Given the description of an element on the screen output the (x, y) to click on. 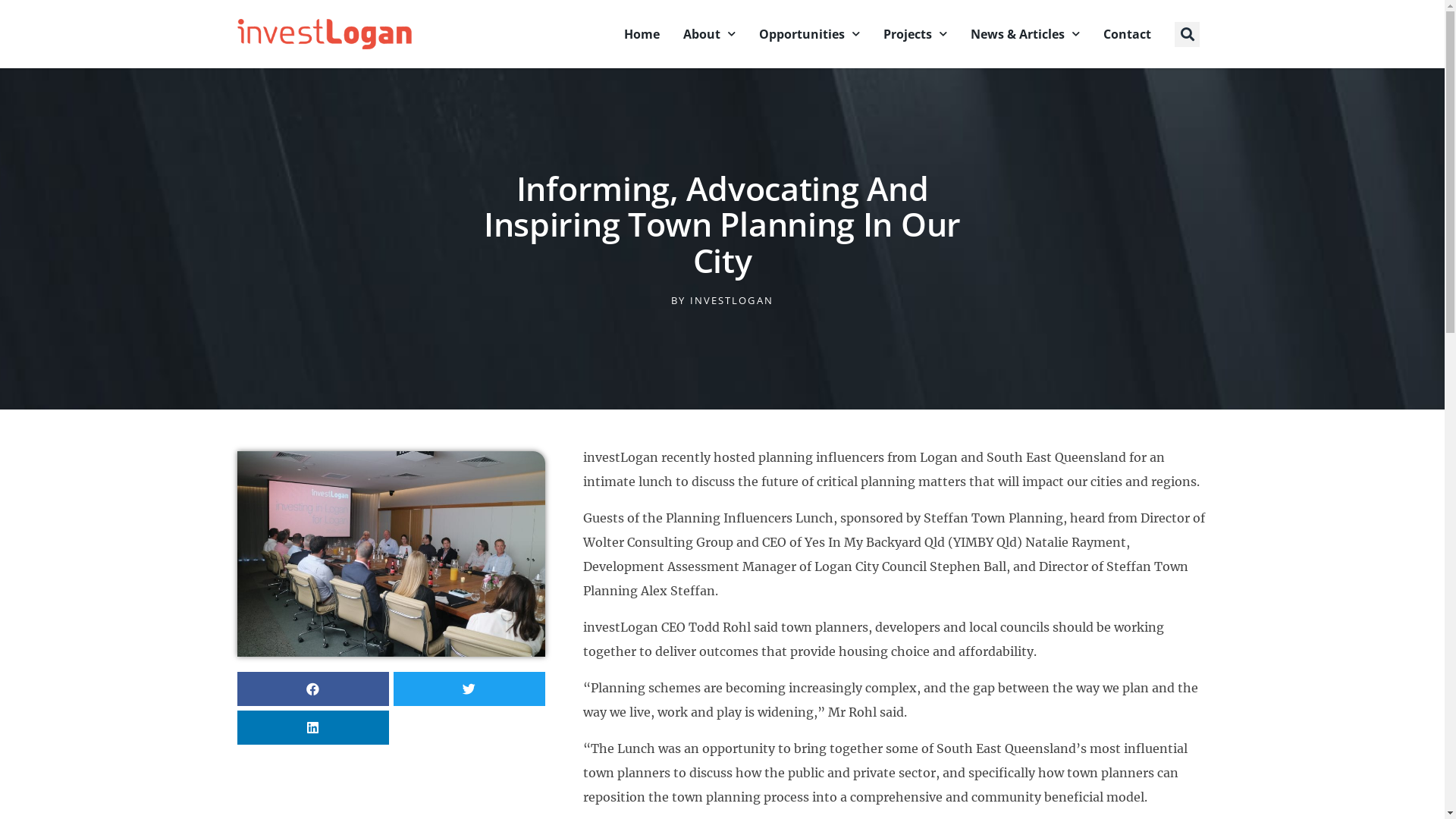
Projects Element type: text (915, 34)
Home Element type: text (641, 34)
Contact Element type: text (1127, 34)
Opportunities Element type: text (809, 34)
News & Articles Element type: text (1024, 34)
BY INVESTLOGAN Element type: text (721, 300)
About Element type: text (709, 34)
